Given the description of an element on the screen output the (x, y) to click on. 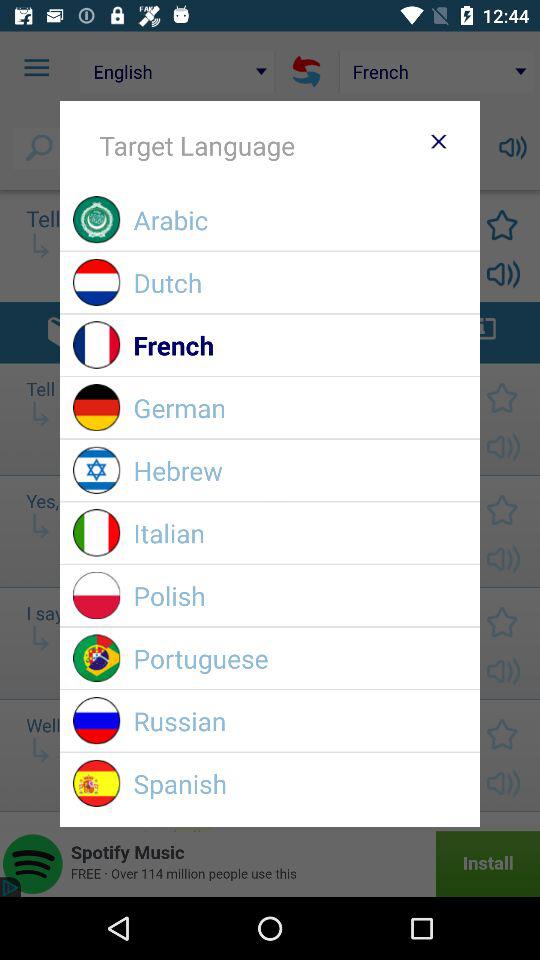
select the russian icon (300, 720)
